Given the description of an element on the screen output the (x, y) to click on. 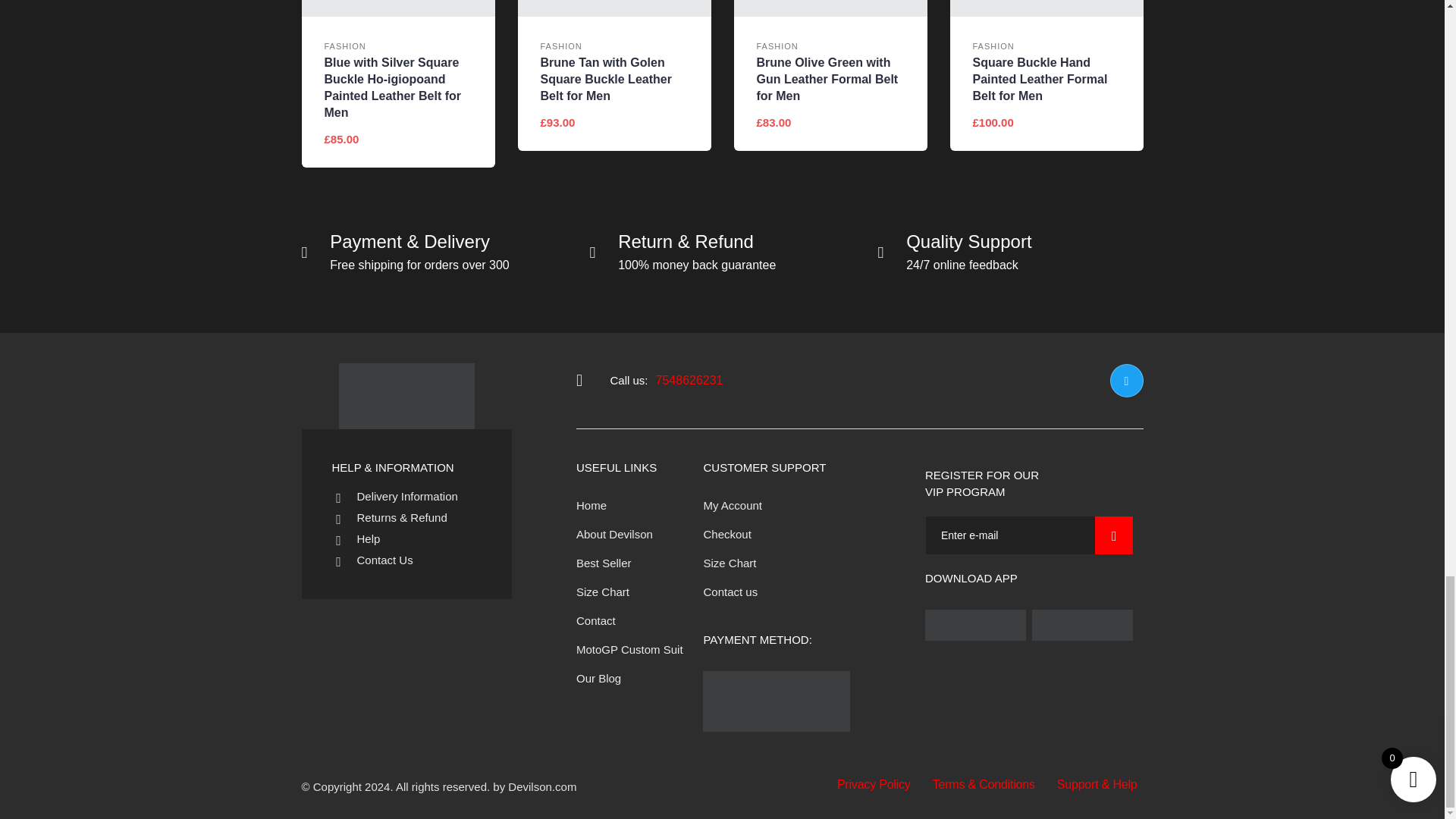
Brune Olive Green with Gun Leather Formal Belt for Men (830, 79)
Brune Tan with Golen Square Buckle Leather Belt for Men (613, 8)
Brune Tan with Golen Square Buckle Leather Belt for Men (613, 79)
Brune Olive Green with Gun Leather Formal Belt for Men (830, 8)
Square Buckle Hand Painted Leather Formal Belt for Men (1045, 8)
Square Buckle Hand Painted Leather Formal Belt for Men (1045, 79)
